Given the description of an element on the screen output the (x, y) to click on. 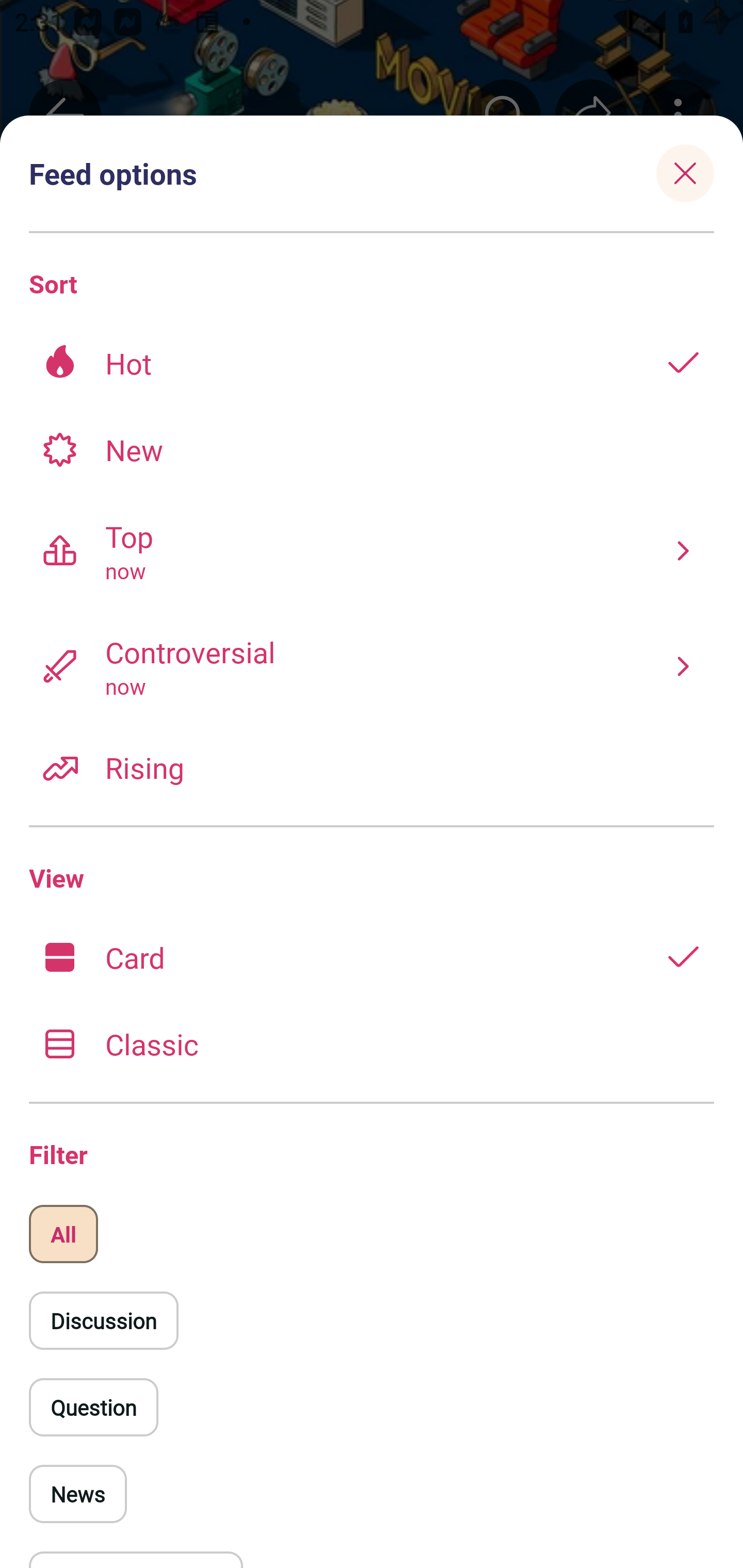
Close sheet (684, 173)
Hot (371, 362)
New (371, 449)
Top now (371, 550)
Controversial now (371, 666)
Card (371, 957)
Classic (371, 1043)
All (63, 1233)
Discussion (103, 1320)
Question (93, 1407)
News (77, 1493)
